Given the description of an element on the screen output the (x, y) to click on. 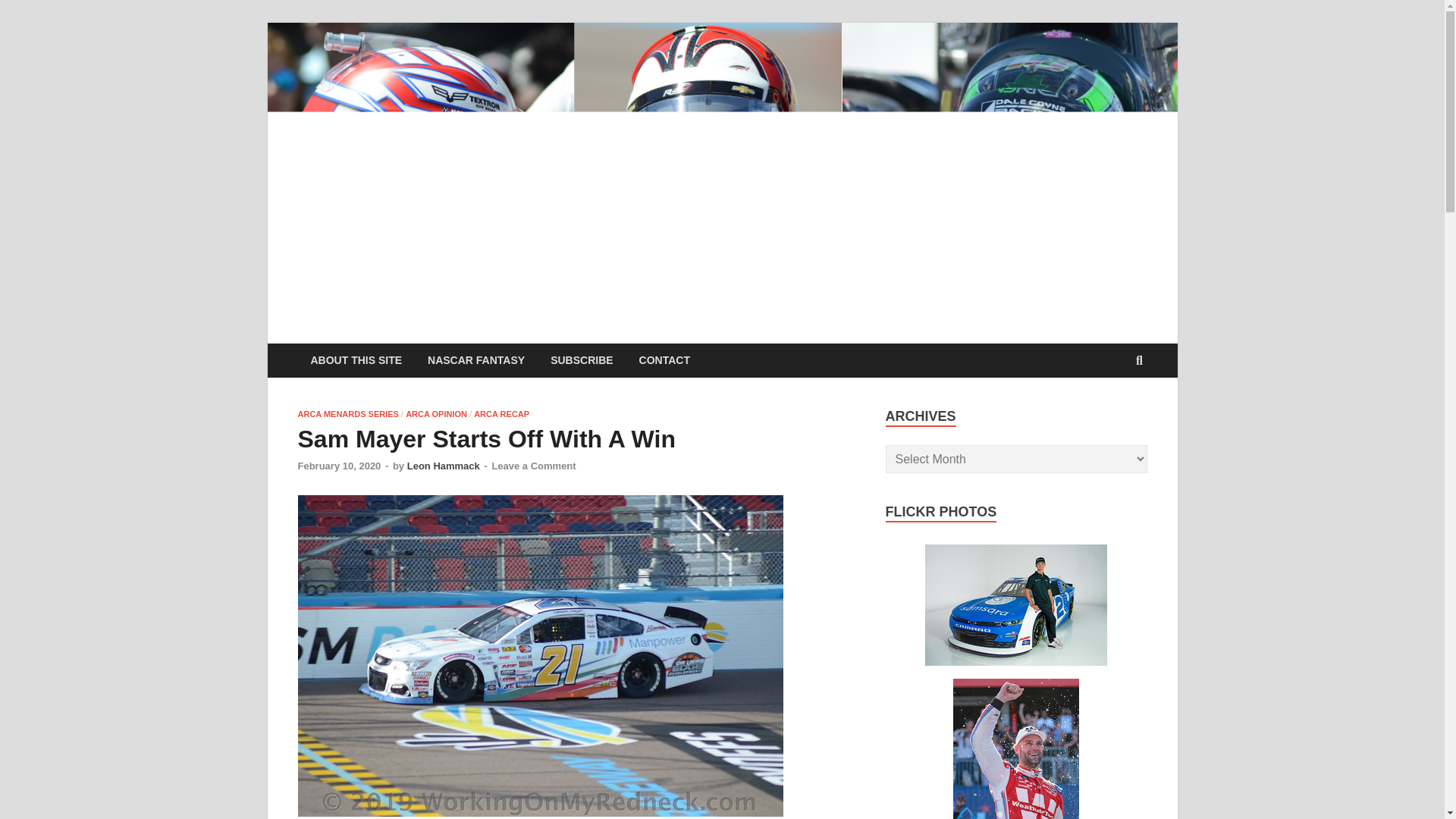
NASCAR FANTASY (475, 360)
ARCA RECAP (501, 413)
ABOUT THIS SITE (355, 360)
SUBSCRIBE (581, 360)
ARCA OPINION (436, 413)
Shane van Gisbergen - 2024-08-24T142040.243 (1015, 748)
Leave a Comment (533, 465)
February 10, 2020 (338, 465)
Jesse Love - 2024-08-29T082856.422 (1015, 604)
ARCA MENARDS SERIES (347, 413)
